Given the description of an element on the screen output the (x, y) to click on. 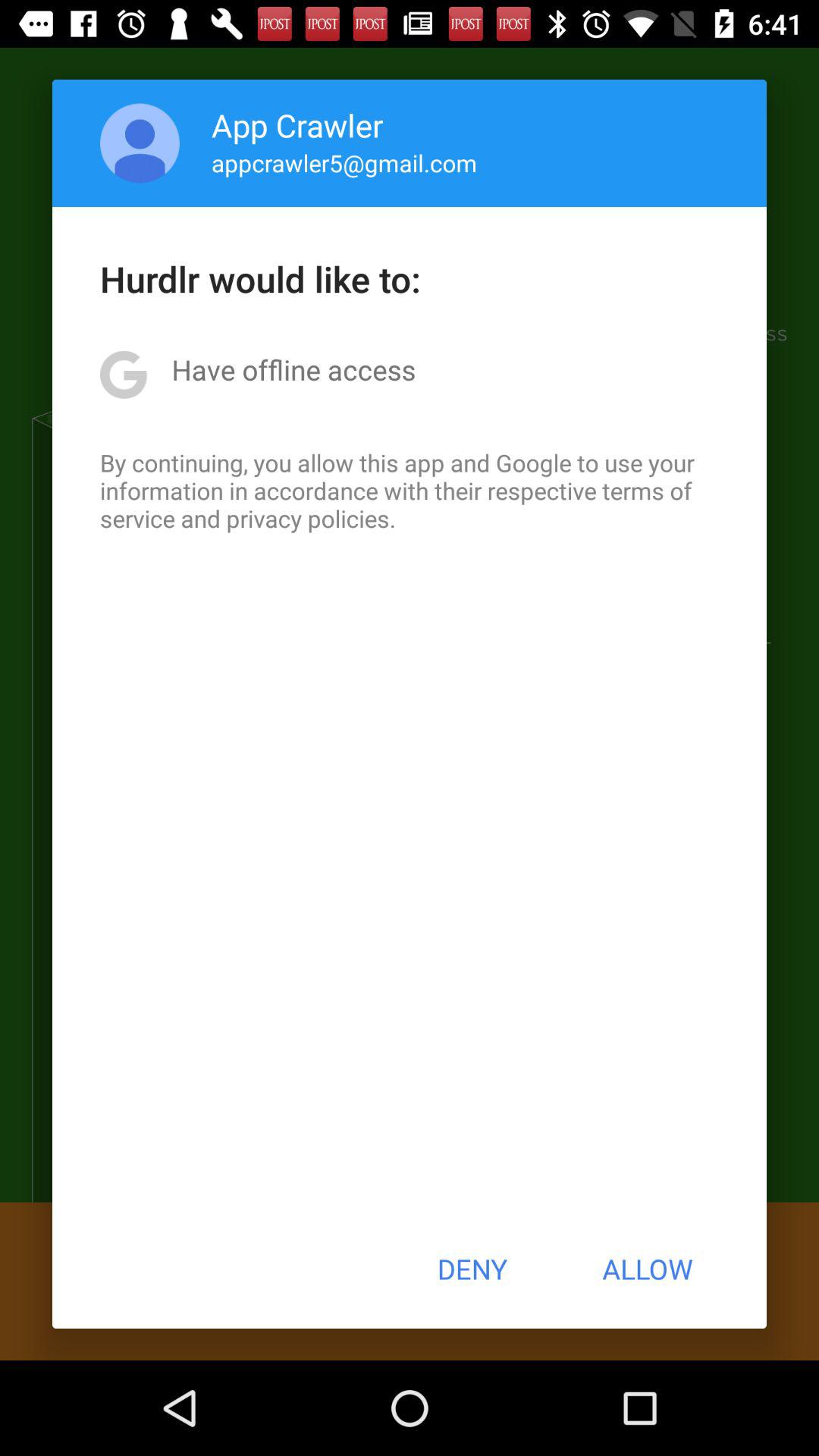
turn on icon above the hurdlr would like app (139, 143)
